Given the description of an element on the screen output the (x, y) to click on. 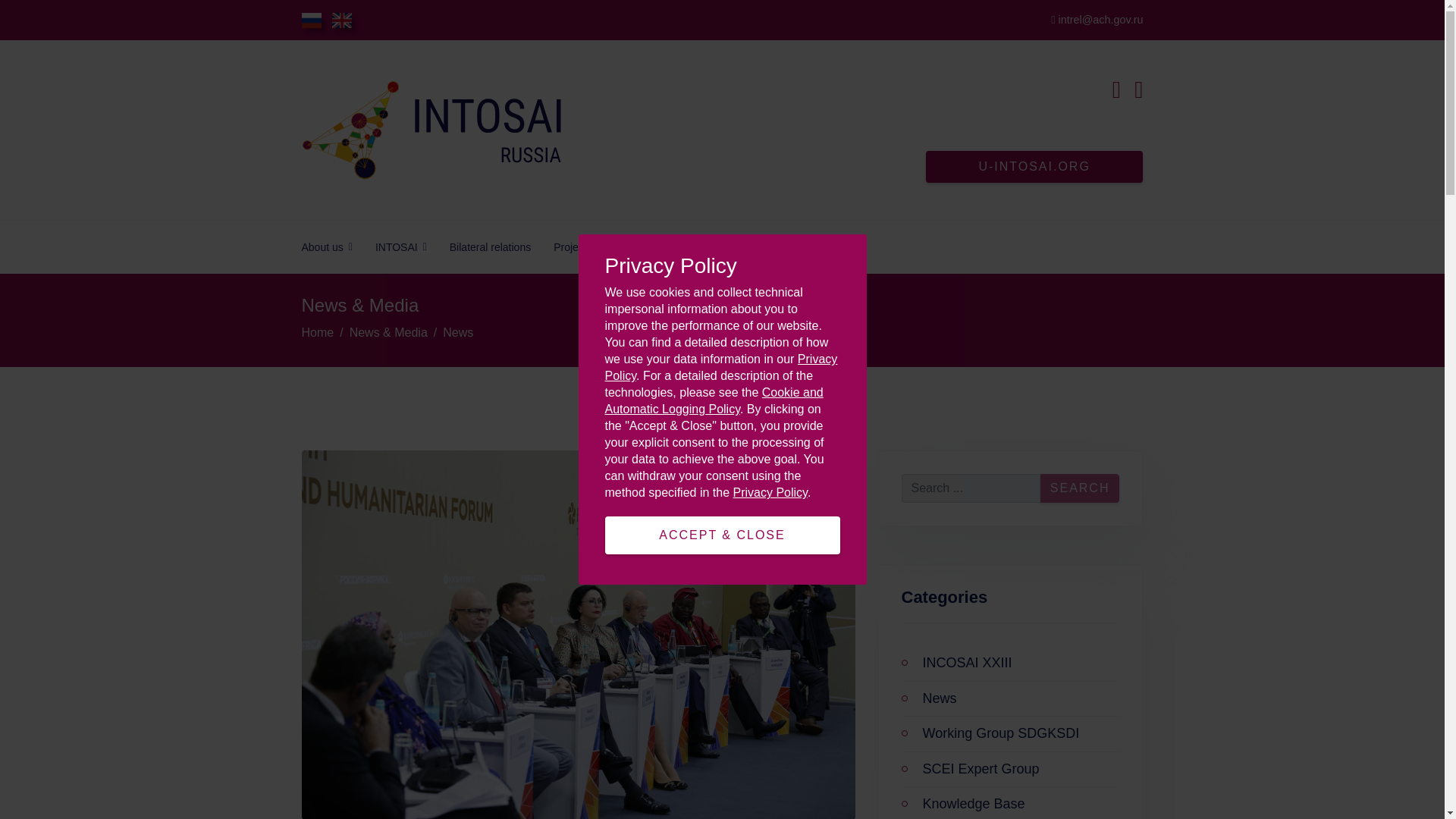
U-INTOSAI.ORG (1034, 166)
INTOSAI (401, 246)
Projects (576, 246)
Bilateral relations (489, 246)
About us (325, 246)
Documents (650, 246)
